Given the description of an element on the screen output the (x, y) to click on. 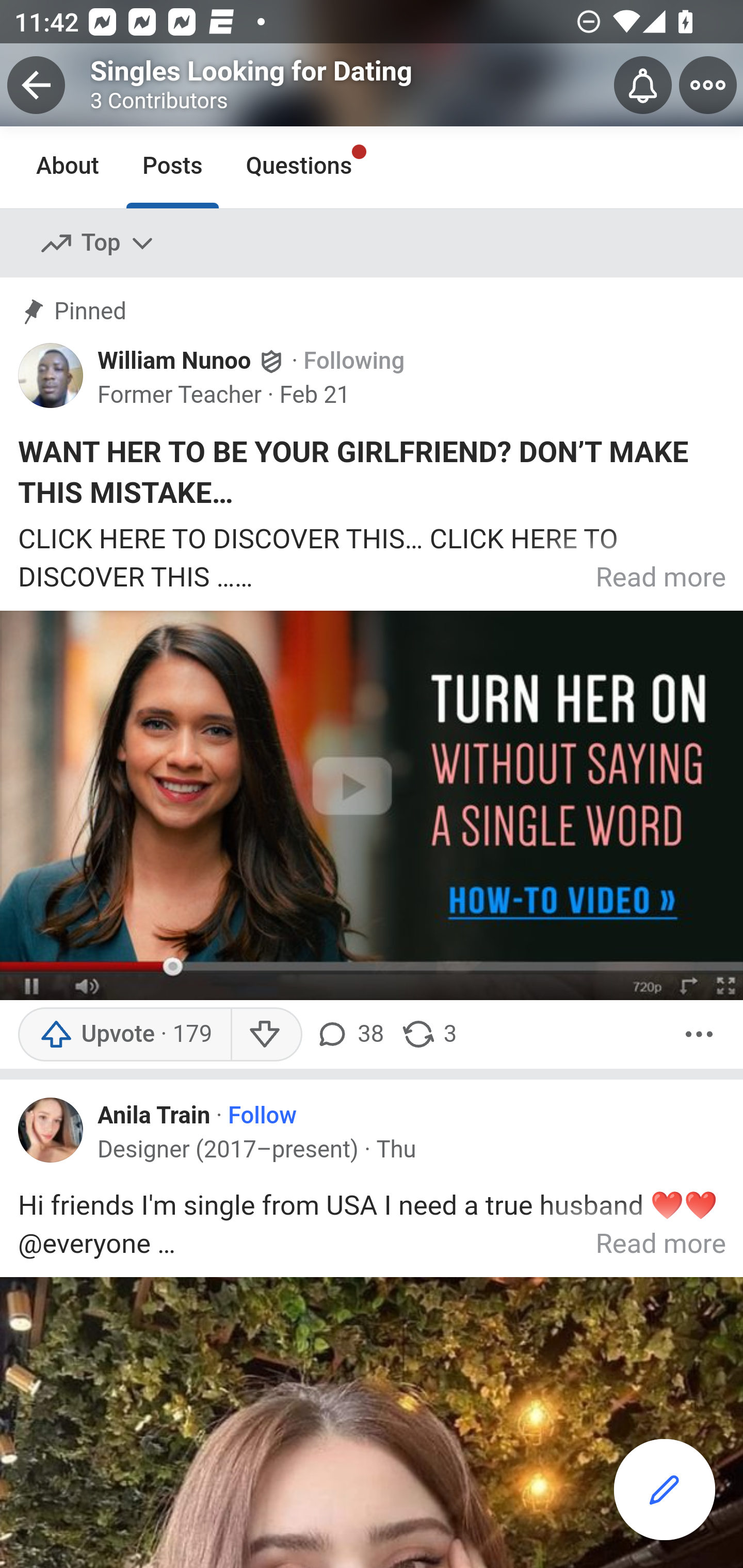
About (68, 166)
Posts (171, 166)
Questions (299, 166)
Top (97, 243)
Profile photo for William Nunoo (50, 373)
William Nunoo William Nunoo   (191, 361)
Upvote (124, 1034)
Downvote (266, 1034)
38 comments (352, 1034)
3 shares (428, 1034)
More (699, 1034)
Profile photo for Anila Train (50, 1129)
Anila Train (154, 1115)
Follow (262, 1116)
